Given the description of an element on the screen output the (x, y) to click on. 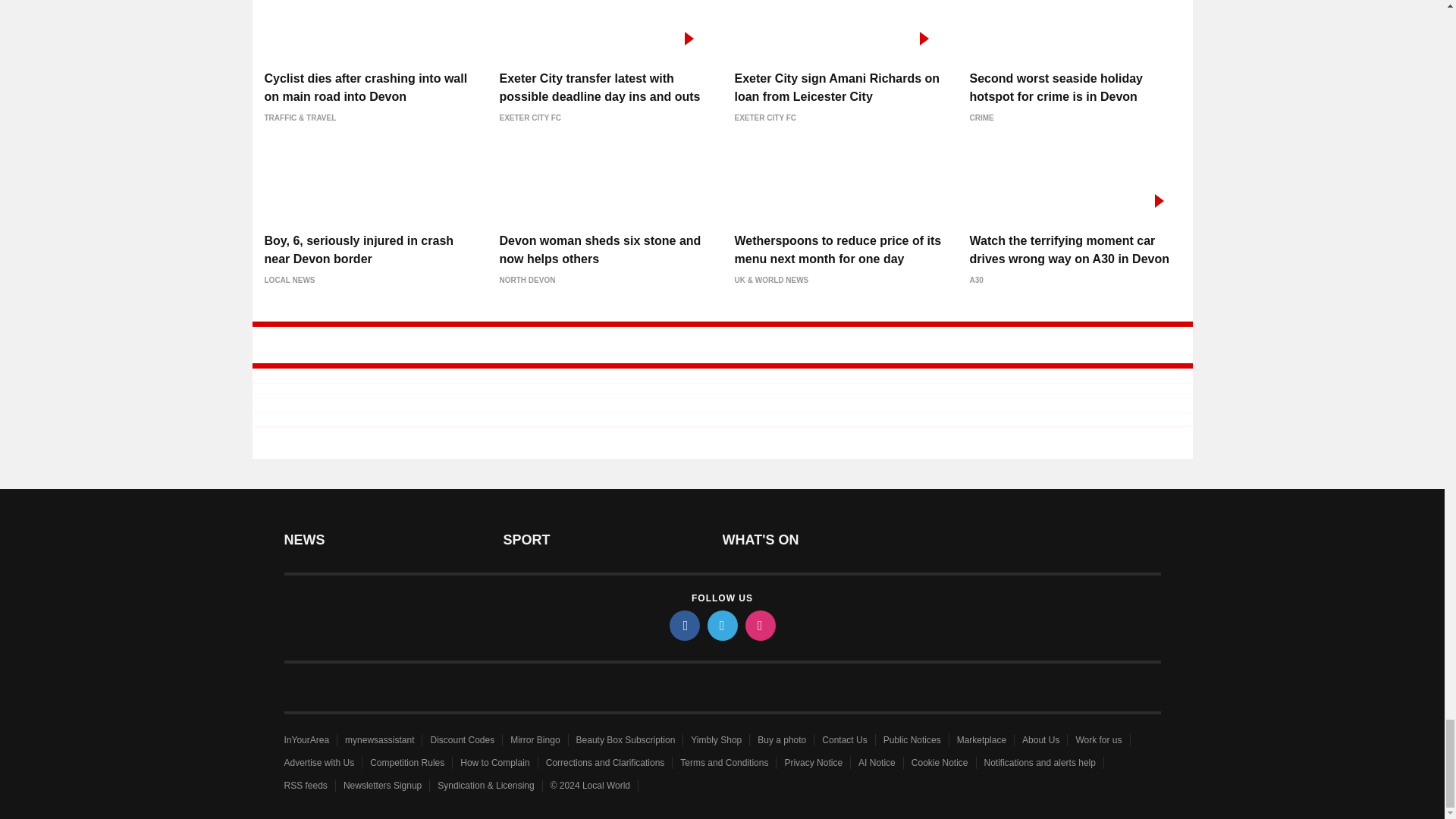
facebook (683, 625)
instagram (759, 625)
twitter (721, 625)
